Given the description of an element on the screen output the (x, y) to click on. 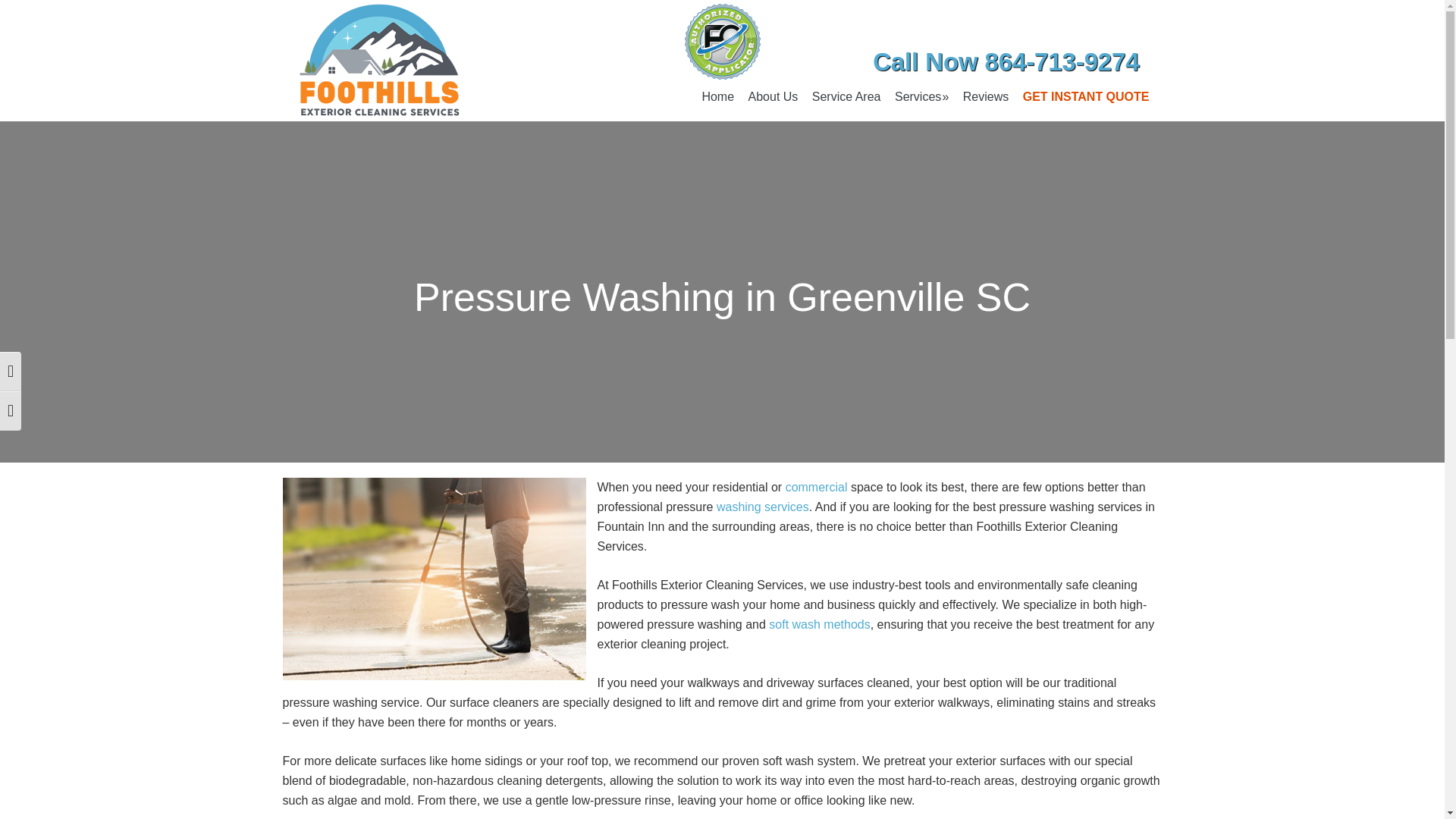
Reviews (985, 96)
About Us (772, 96)
Services (921, 96)
GET INSTANT QUOTE (1085, 96)
Service Area (846, 96)
Home (717, 96)
Foothills Exterior Cleaning Services (378, 60)
